Given the description of an element on the screen output the (x, y) to click on. 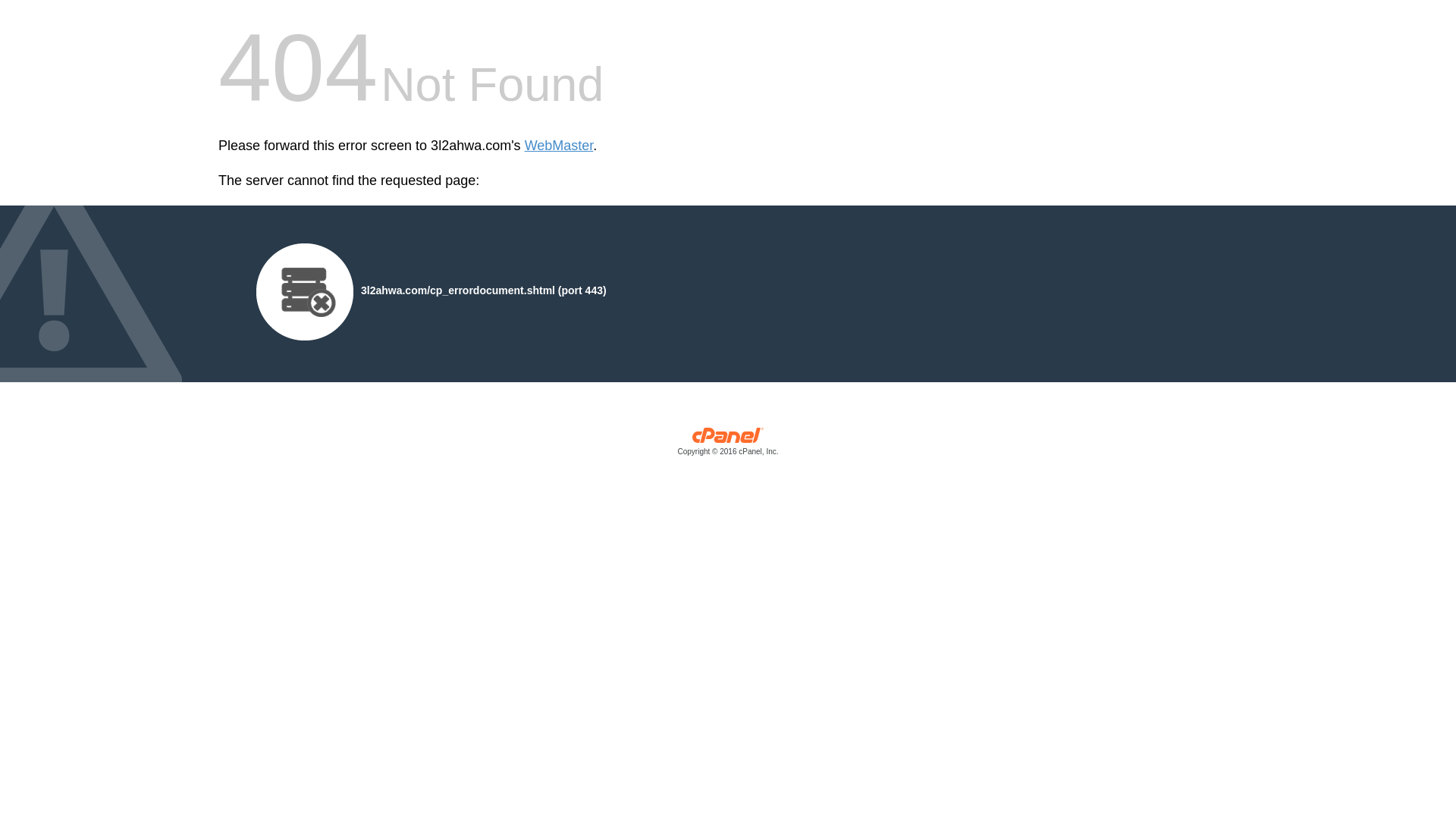
WebMaster Element type: text (558, 145)
